Given the description of an element on the screen output the (x, y) to click on. 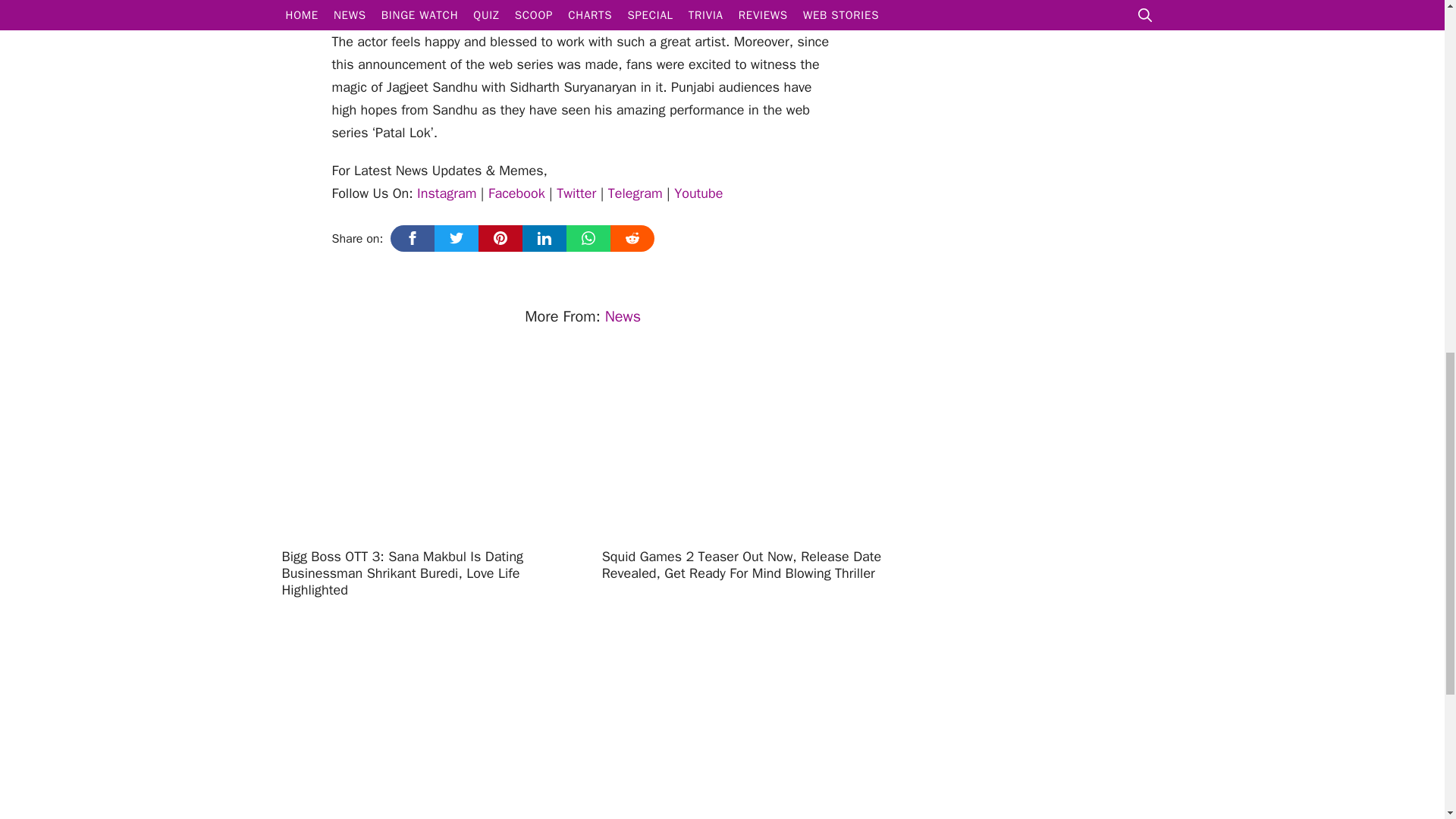
Facebook (515, 193)
Instagram (446, 193)
Twitter (575, 193)
Telegram (635, 193)
Youtube (698, 193)
